Given the description of an element on the screen output the (x, y) to click on. 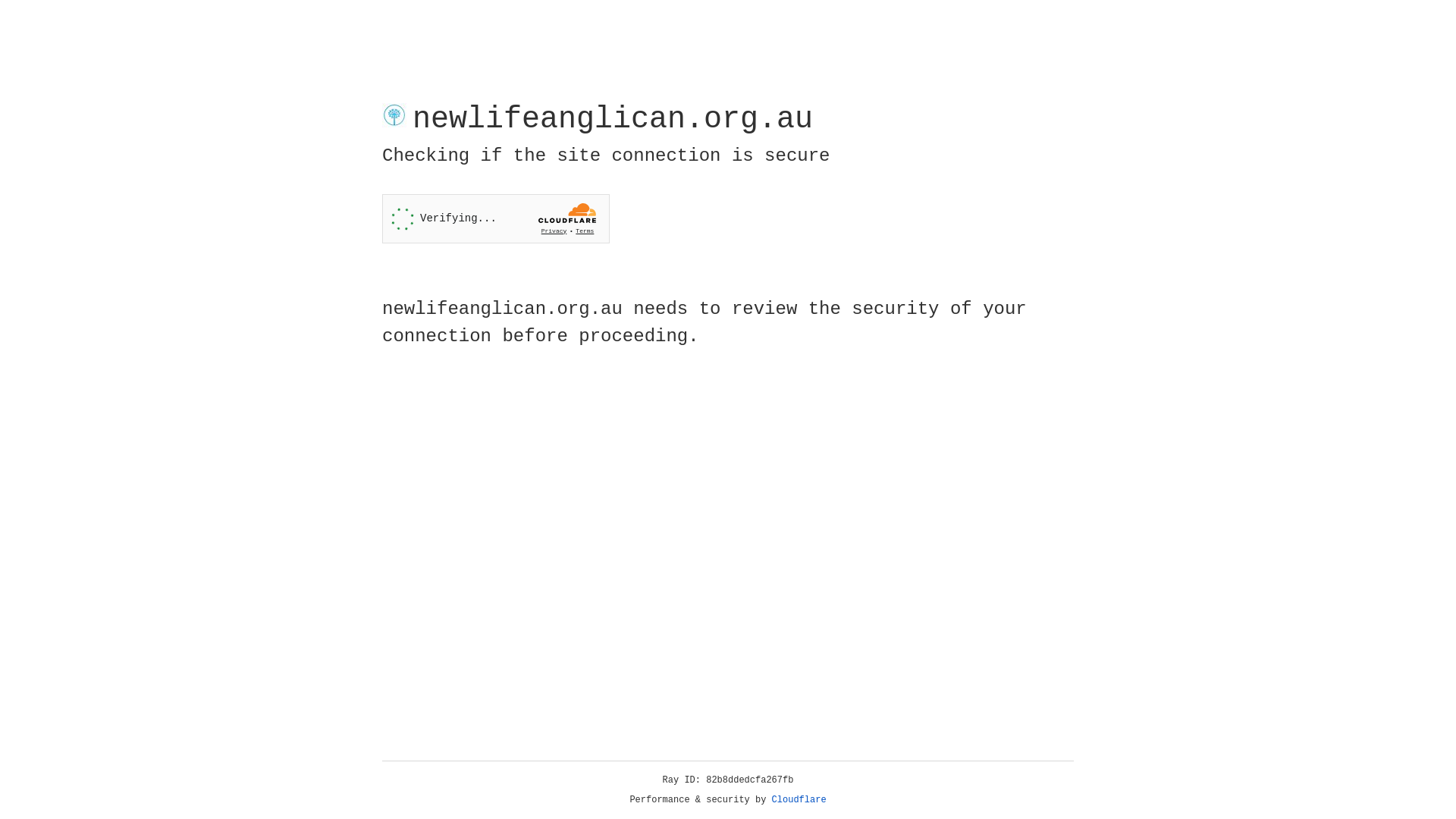
Cloudflare Element type: text (798, 799)
Widget containing a Cloudflare security challenge Element type: hover (495, 218)
